Given the description of an element on the screen output the (x, y) to click on. 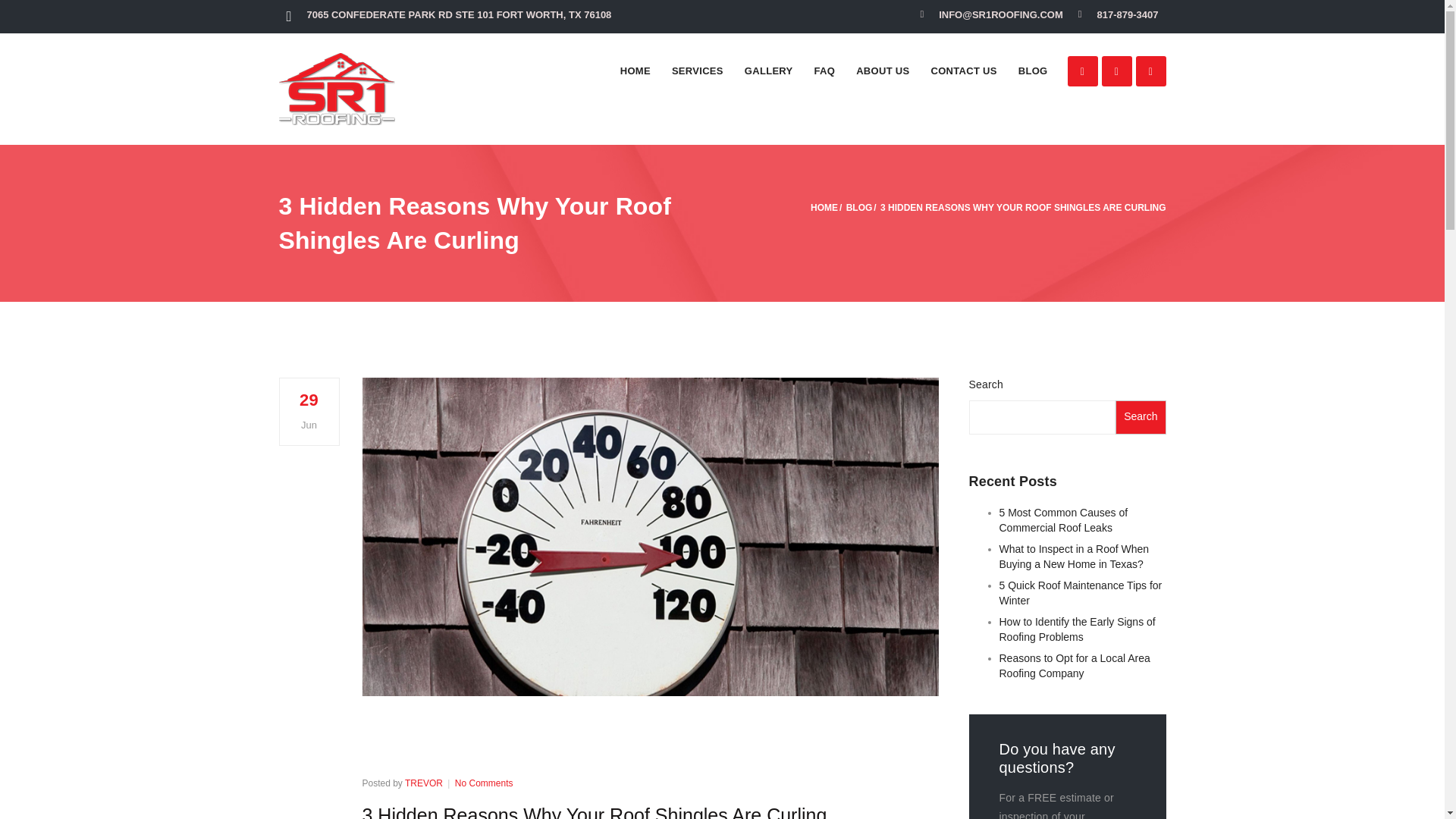
BLOG (858, 207)
Search (1140, 417)
TREVOR (423, 783)
HOME (824, 207)
5 Most Common Causes of Commercial Roof Leaks (1082, 524)
817-879-3407 (1127, 14)
